Given the description of an element on the screen output the (x, y) to click on. 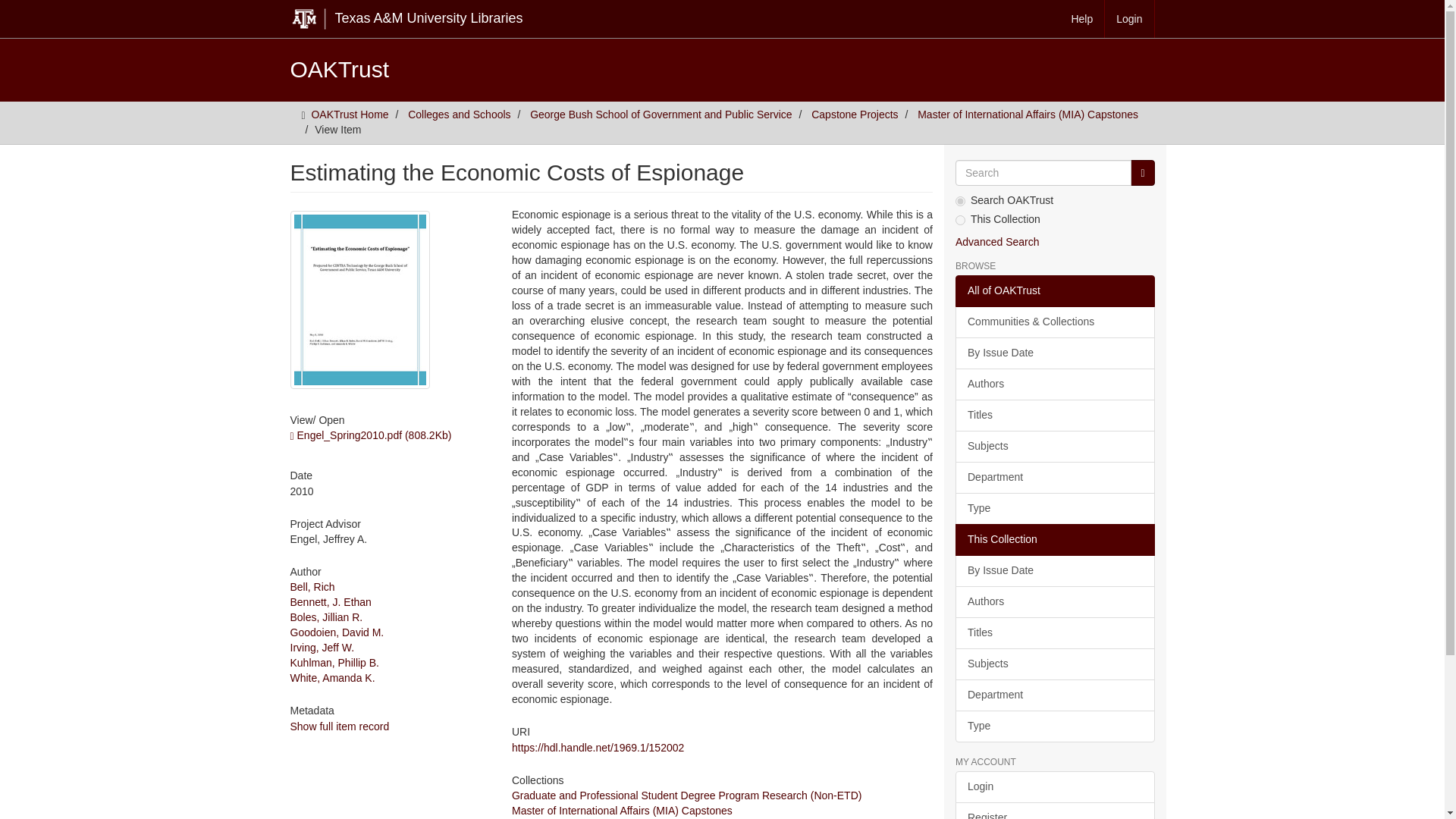
Bell, Rich (311, 586)
Kuhlman, Phillip B. (333, 662)
Irving, Jeff W. (321, 647)
Colleges and Schools (459, 114)
Goodoien, David M. (336, 632)
White, Amanda K. (331, 677)
Capstone Projects (854, 114)
OAKTrust Home (349, 114)
OAKTrust (338, 68)
Bennett, J. Ethan (330, 602)
